Given the description of an element on the screen output the (x, y) to click on. 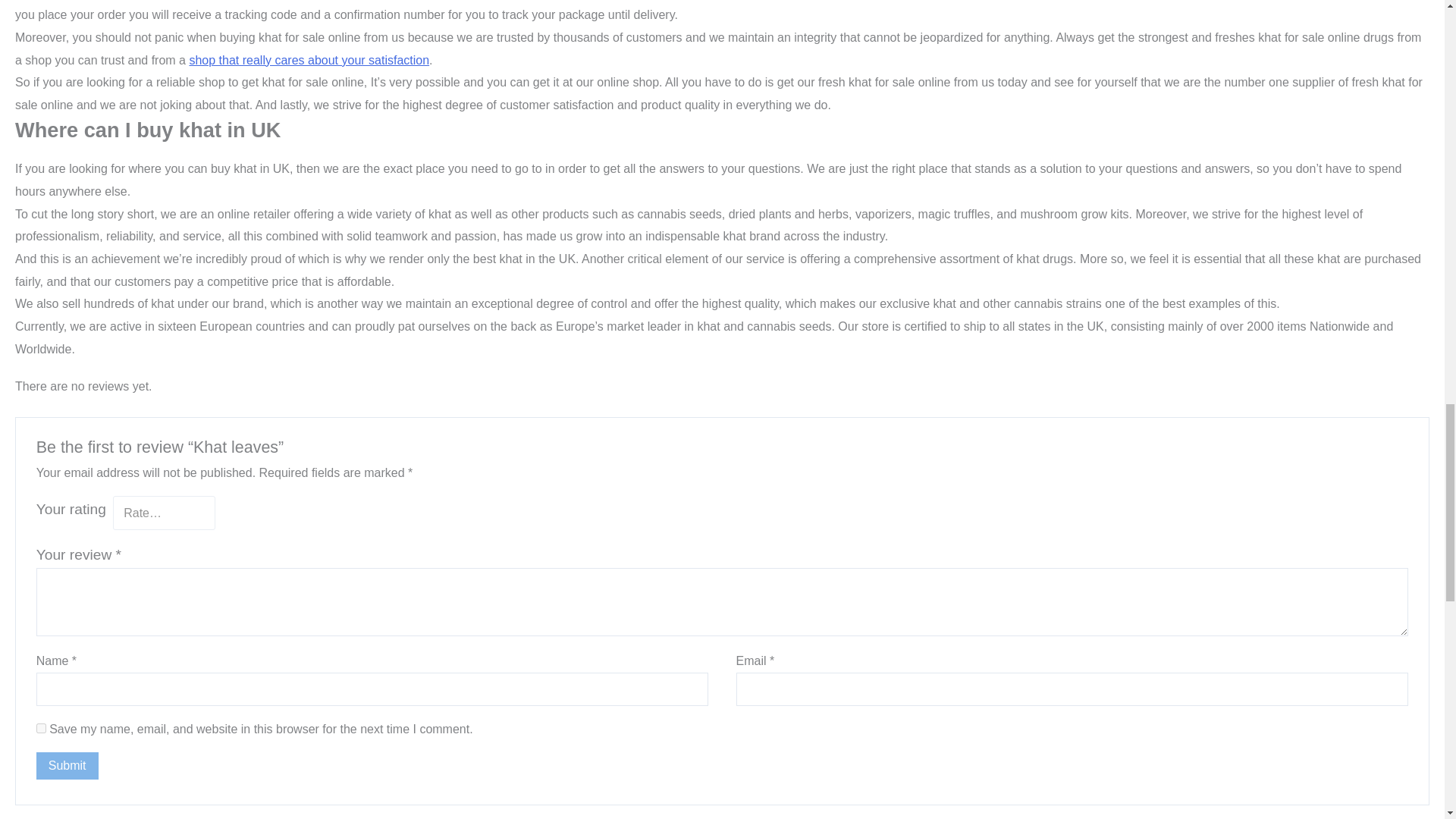
Submit (67, 765)
yes (41, 728)
